Given the description of an element on the screen output the (x, y) to click on. 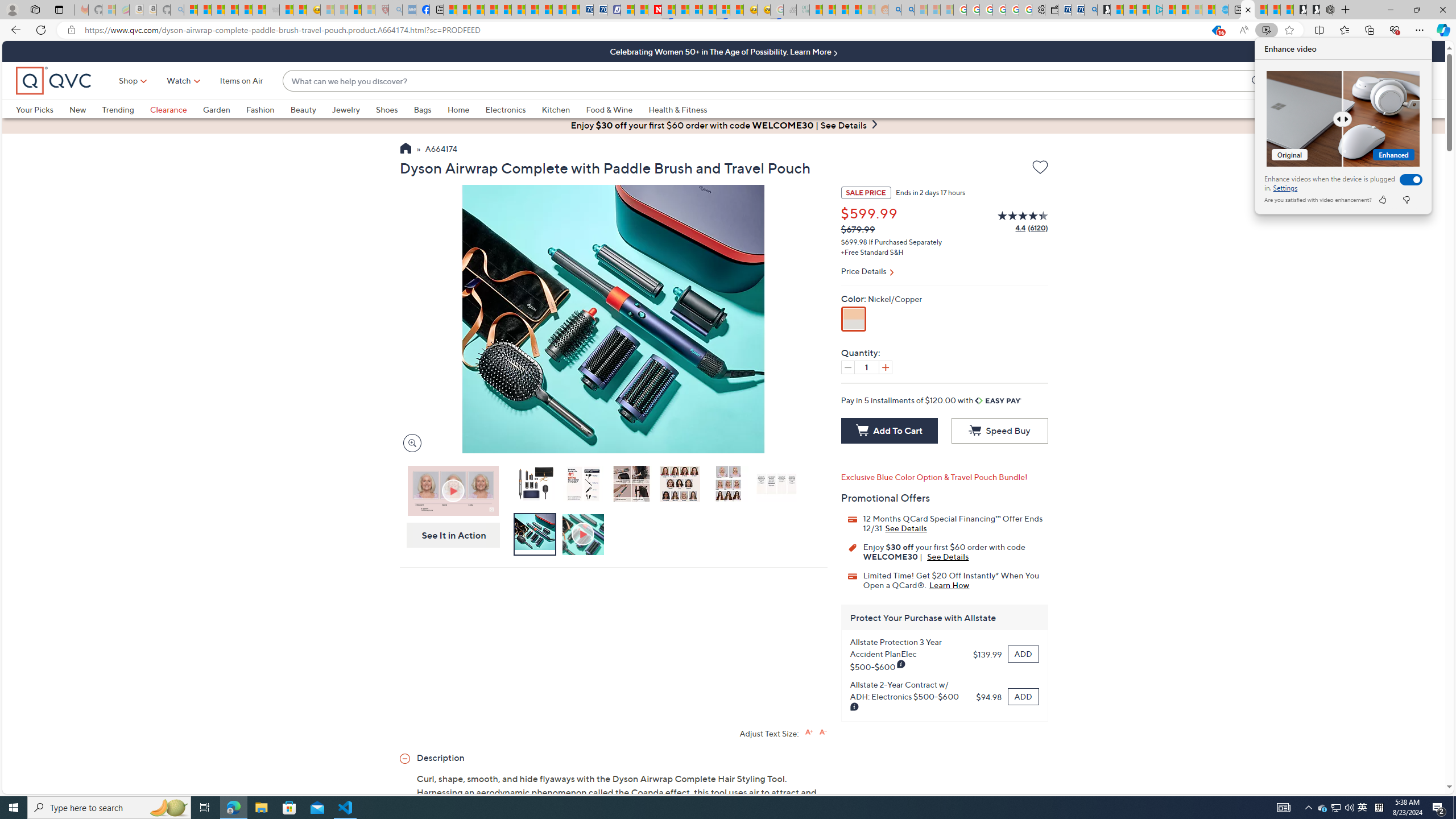
Price Details (944, 272)
The Weather Channel - MSN (218, 9)
Kitchen (555, 109)
Latest Politics News & Archive | Newsweek.com (654, 9)
Speed Buy (999, 430)
Return to QVC Homepage (405, 149)
Shoes (394, 109)
Celebrating Women 50+ in The Age of Possibility. Learn More (723, 51)
